Given the description of an element on the screen output the (x, y) to click on. 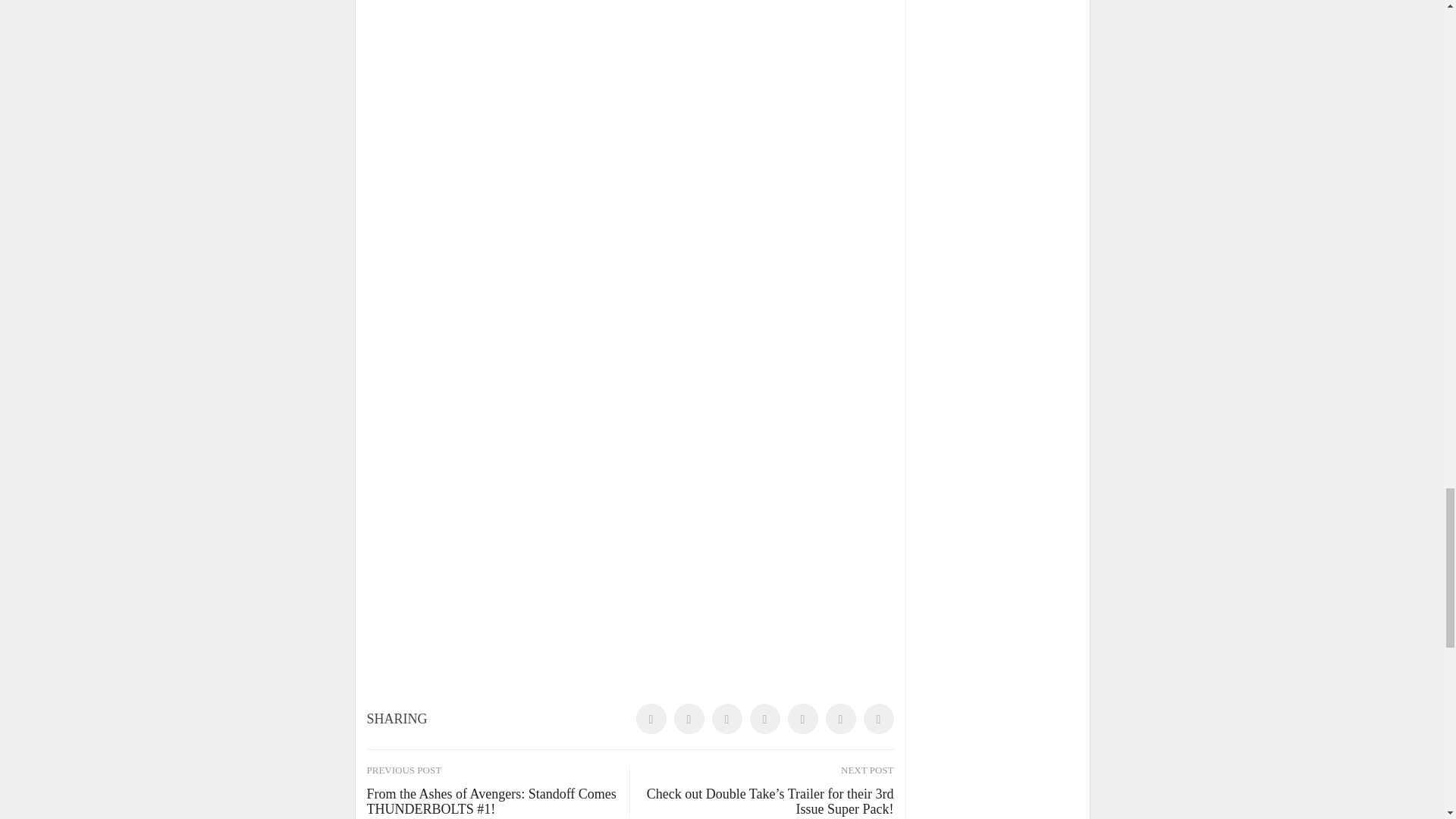
Share on Facebook (649, 718)
Share on LinkedIn (726, 718)
Share on Twitter (687, 718)
Share on Google Plus (801, 718)
Share on Tumblr (763, 718)
